Given the description of an element on the screen output the (x, y) to click on. 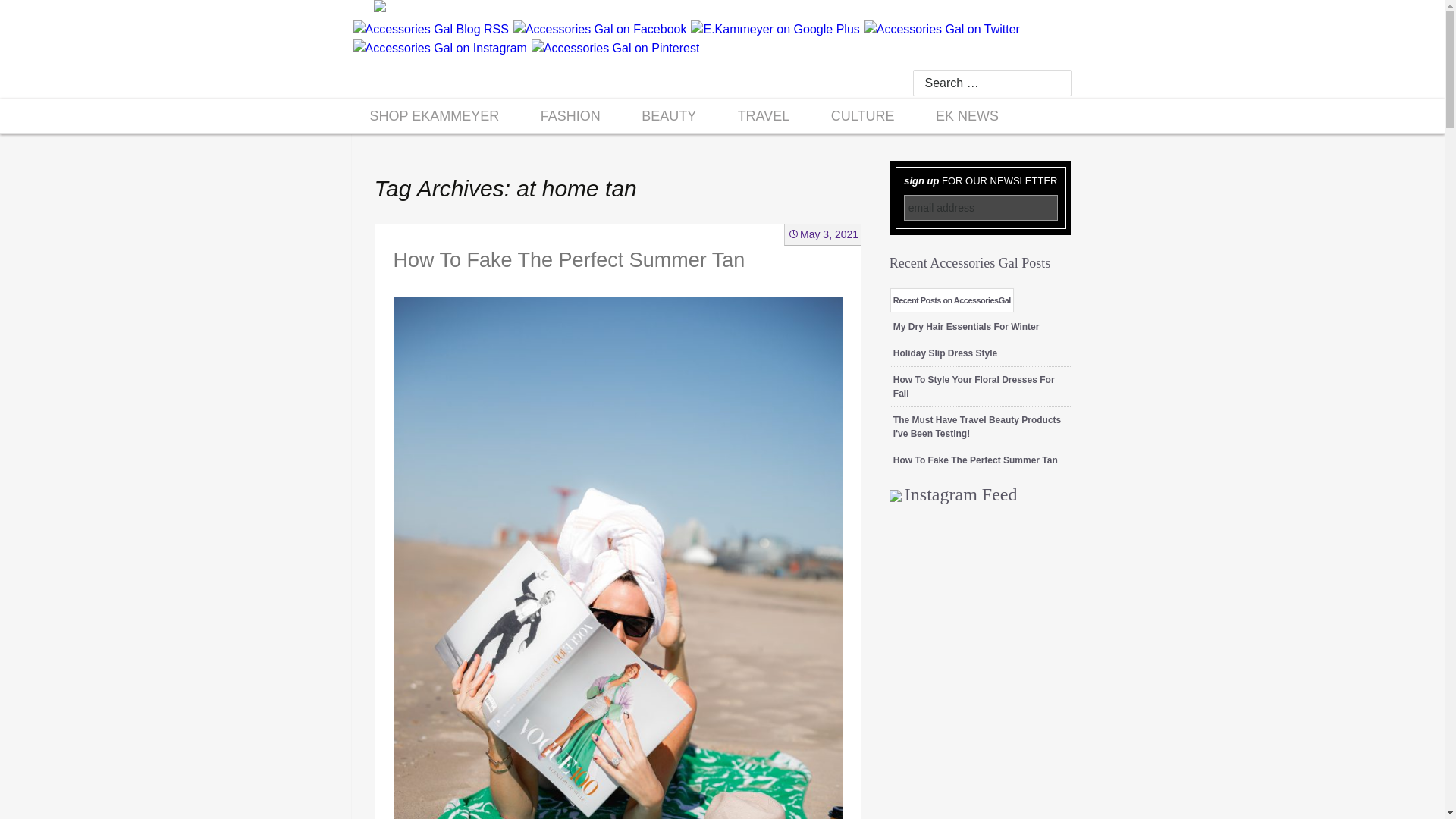
EK NEWS (967, 115)
How To Fake The Perfect Summer Tan (975, 460)
Recent Posts on AccessoriesGal (951, 300)
TRAVEL (764, 115)
BEAUTY (668, 115)
Holiday Slip Dress Style (945, 353)
FASHION (570, 115)
CULTURE (863, 115)
Search (37, 15)
May 3, 2021 (823, 234)
SHOP EKAMMEYER (434, 115)
Permalink to How To Fake The Perfect Summer Tan (823, 234)
My Dry Hair Essentials For Winter (966, 326)
The Must Have Travel Beauty Products I've Been Testing! (977, 426)
